Given the description of an element on the screen output the (x, y) to click on. 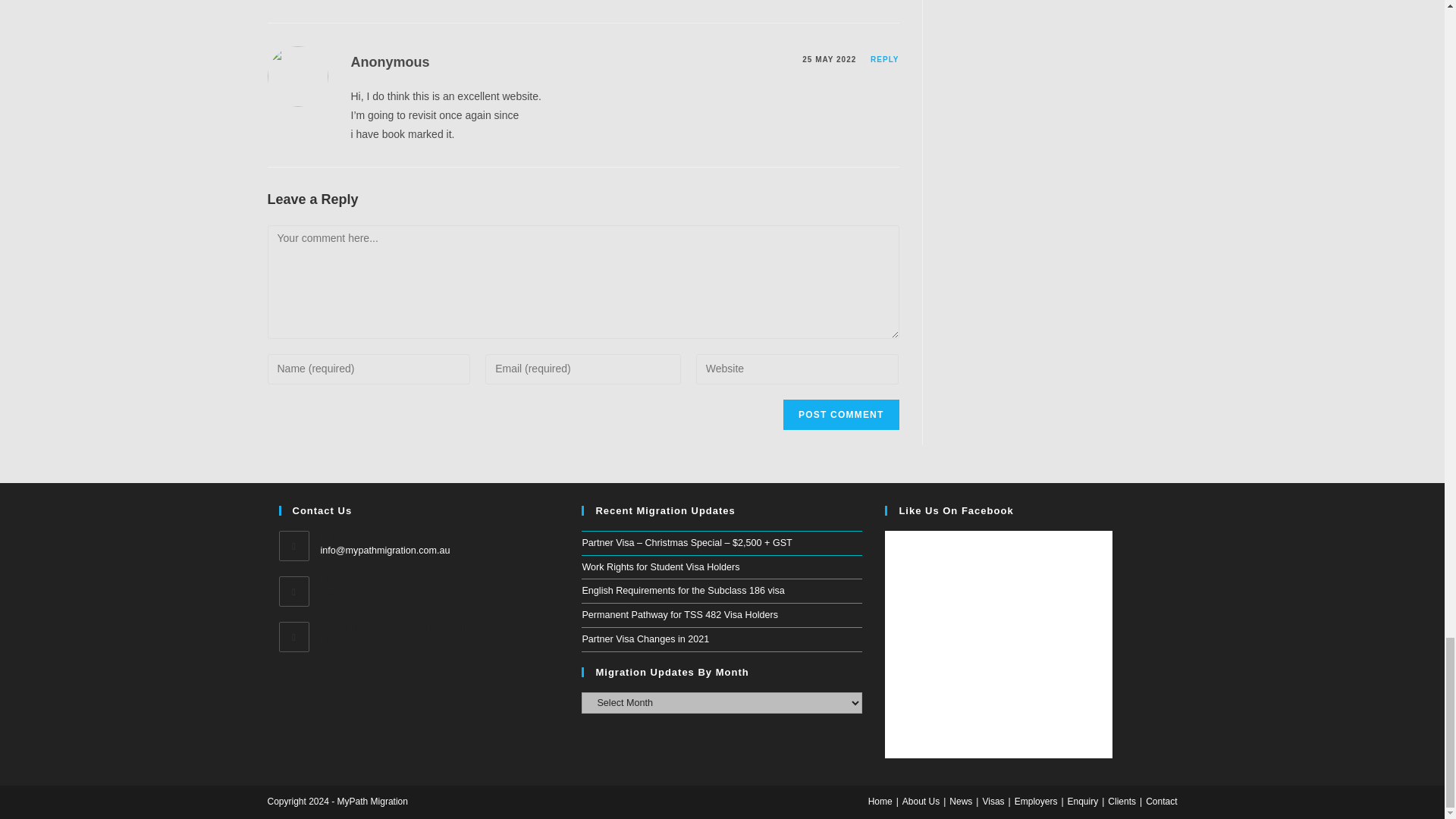
Post Comment (840, 414)
REPLY (884, 59)
